Given the description of an element on the screen output the (x, y) to click on. 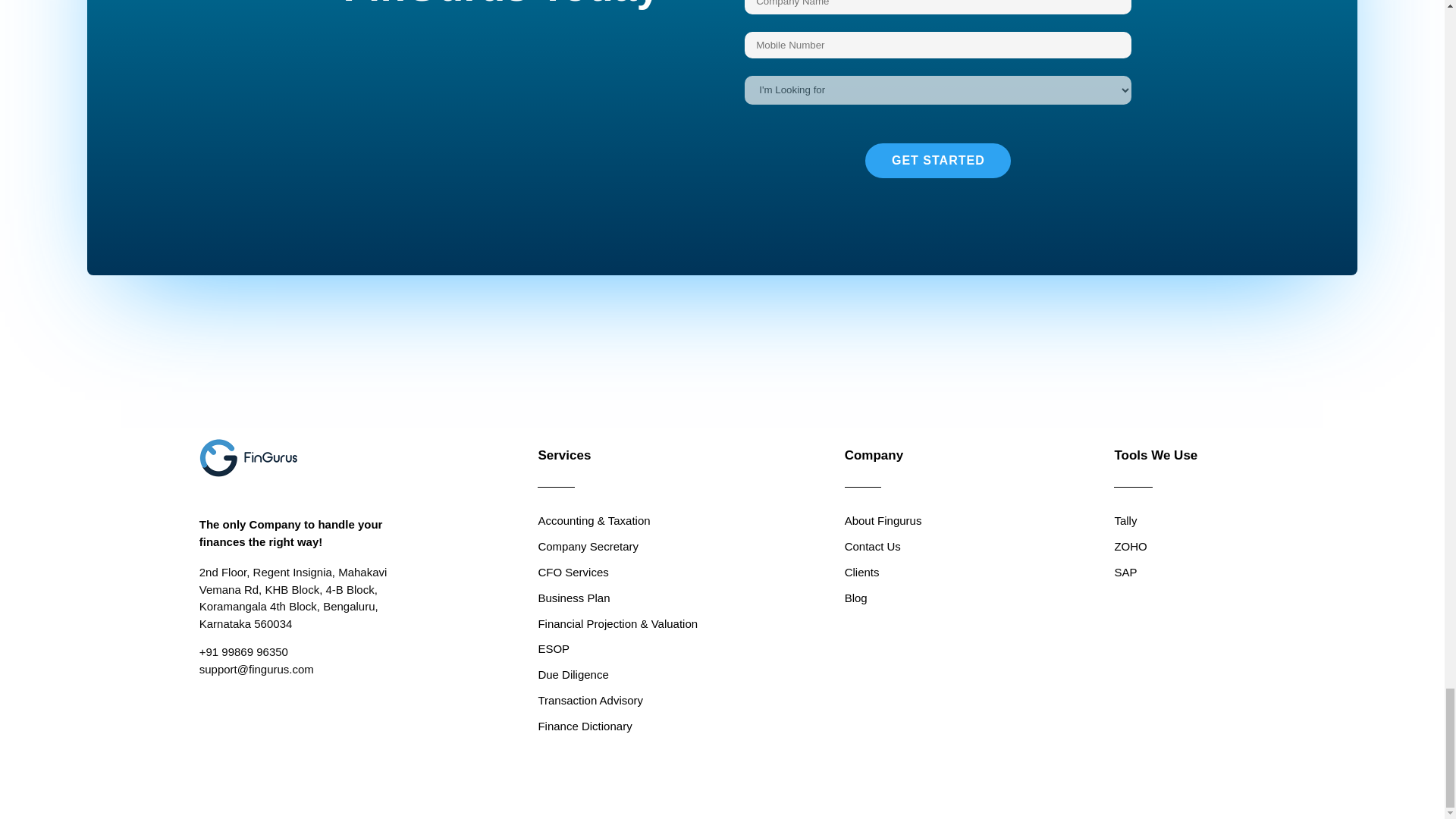
FinGuru-Logo (248, 457)
Get Started (937, 160)
Get Started (937, 160)
